Given the description of an element on the screen output the (x, y) to click on. 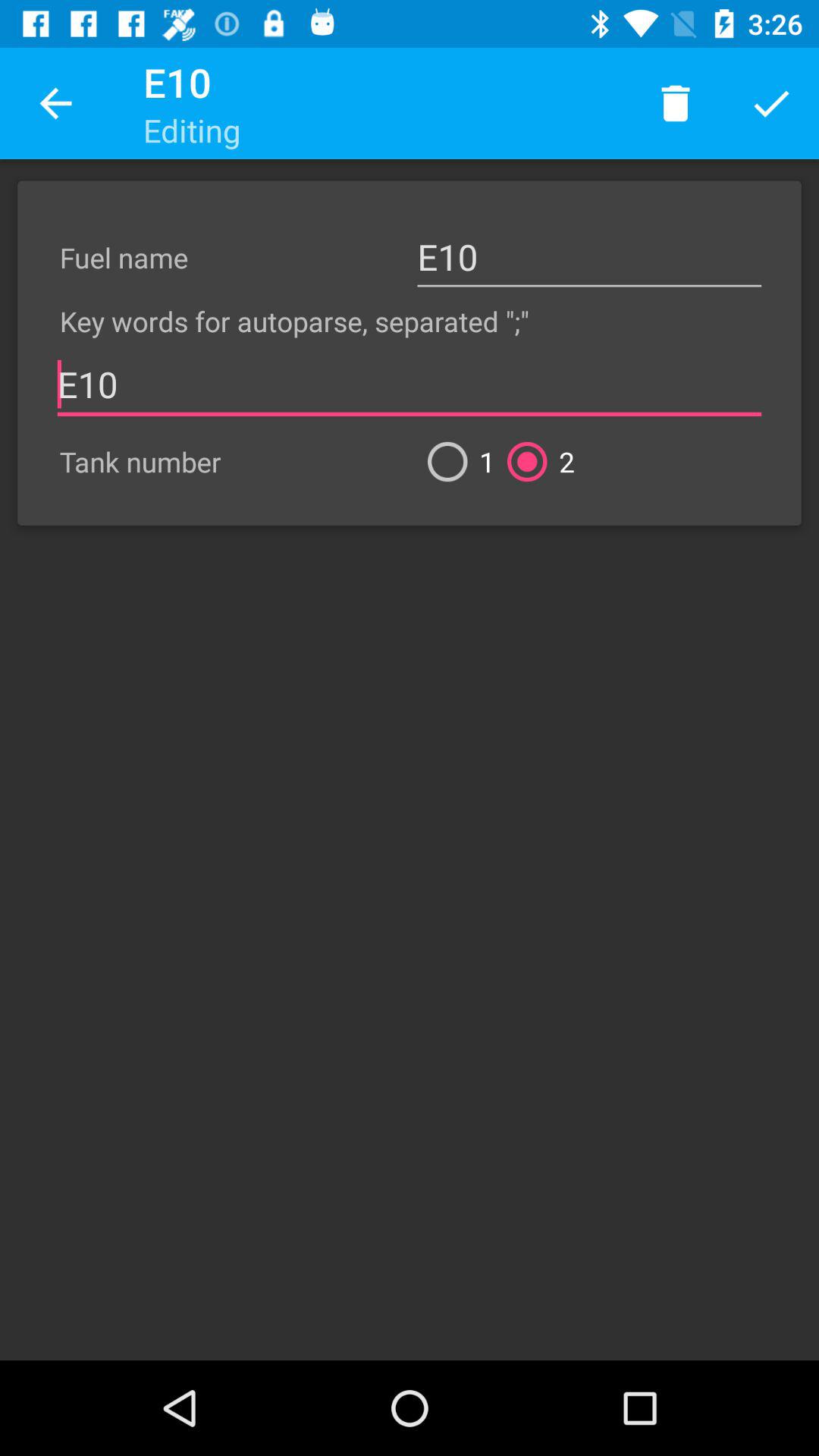
press icon to the right of 1 (535, 461)
